Given the description of an element on the screen output the (x, y) to click on. 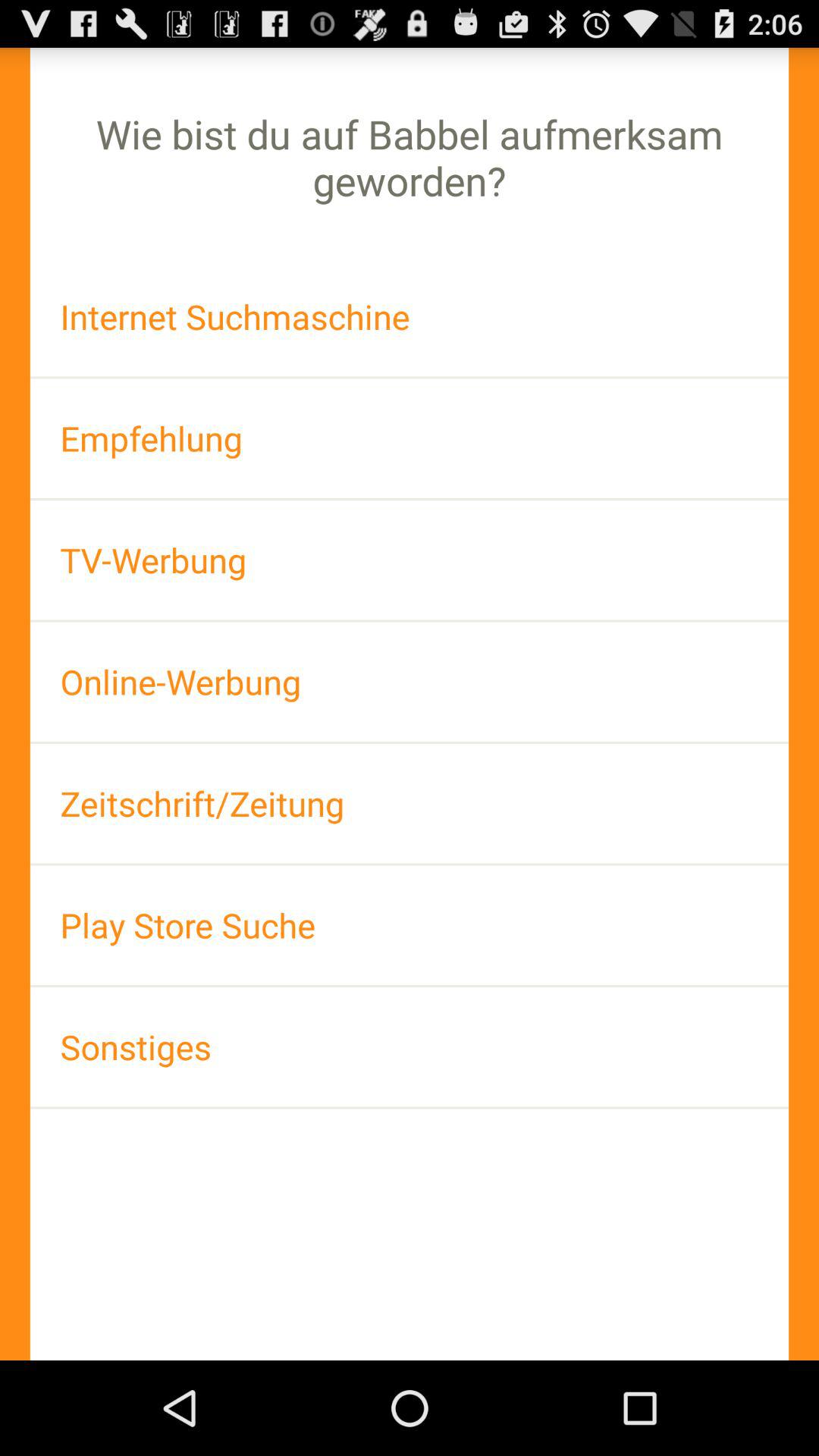
jump until the empfehlung icon (409, 438)
